Given the description of an element on the screen output the (x, y) to click on. 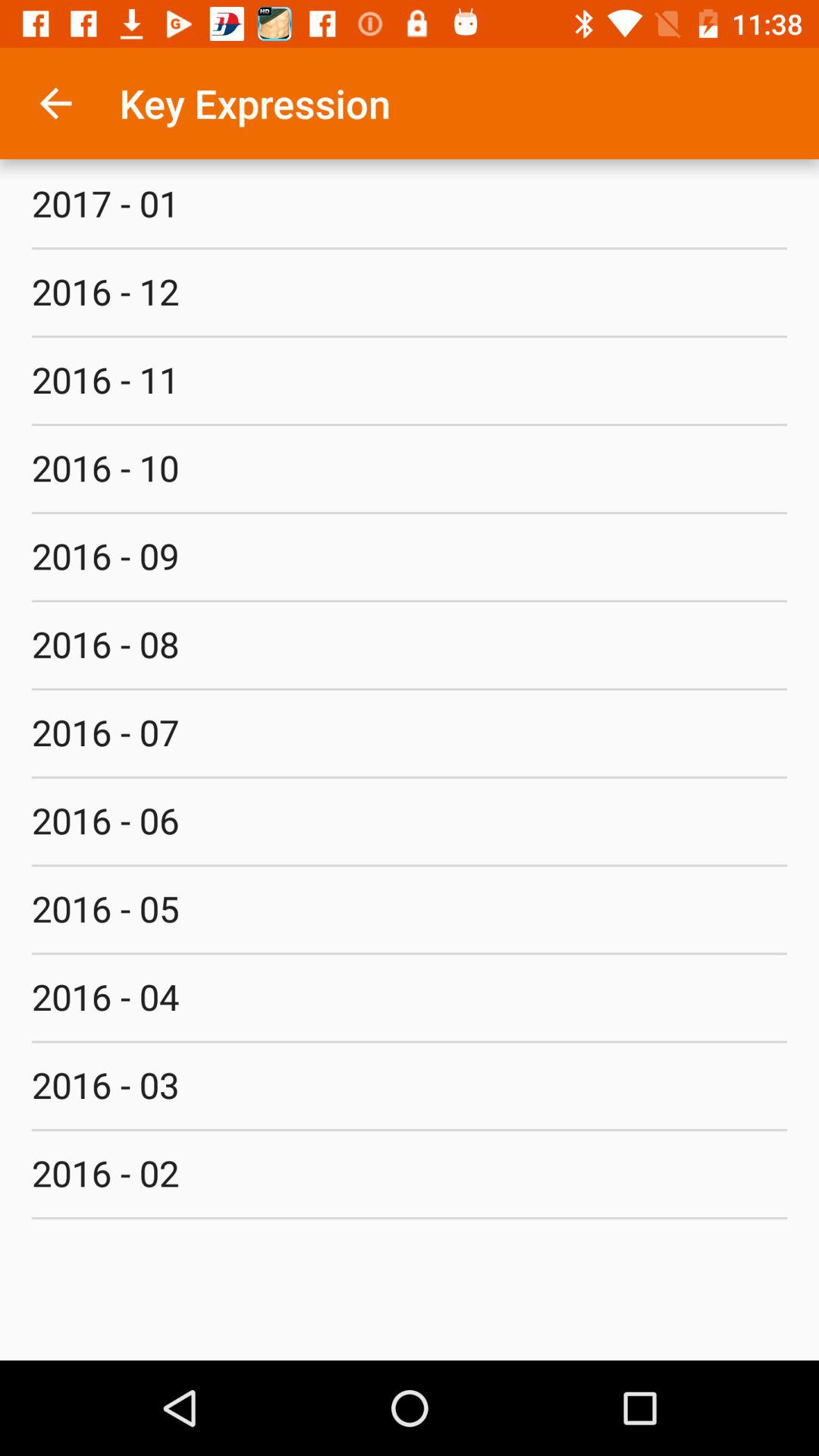
turn off the item to the left of the key expression item (55, 103)
